Given the description of an element on the screen output the (x, y) to click on. 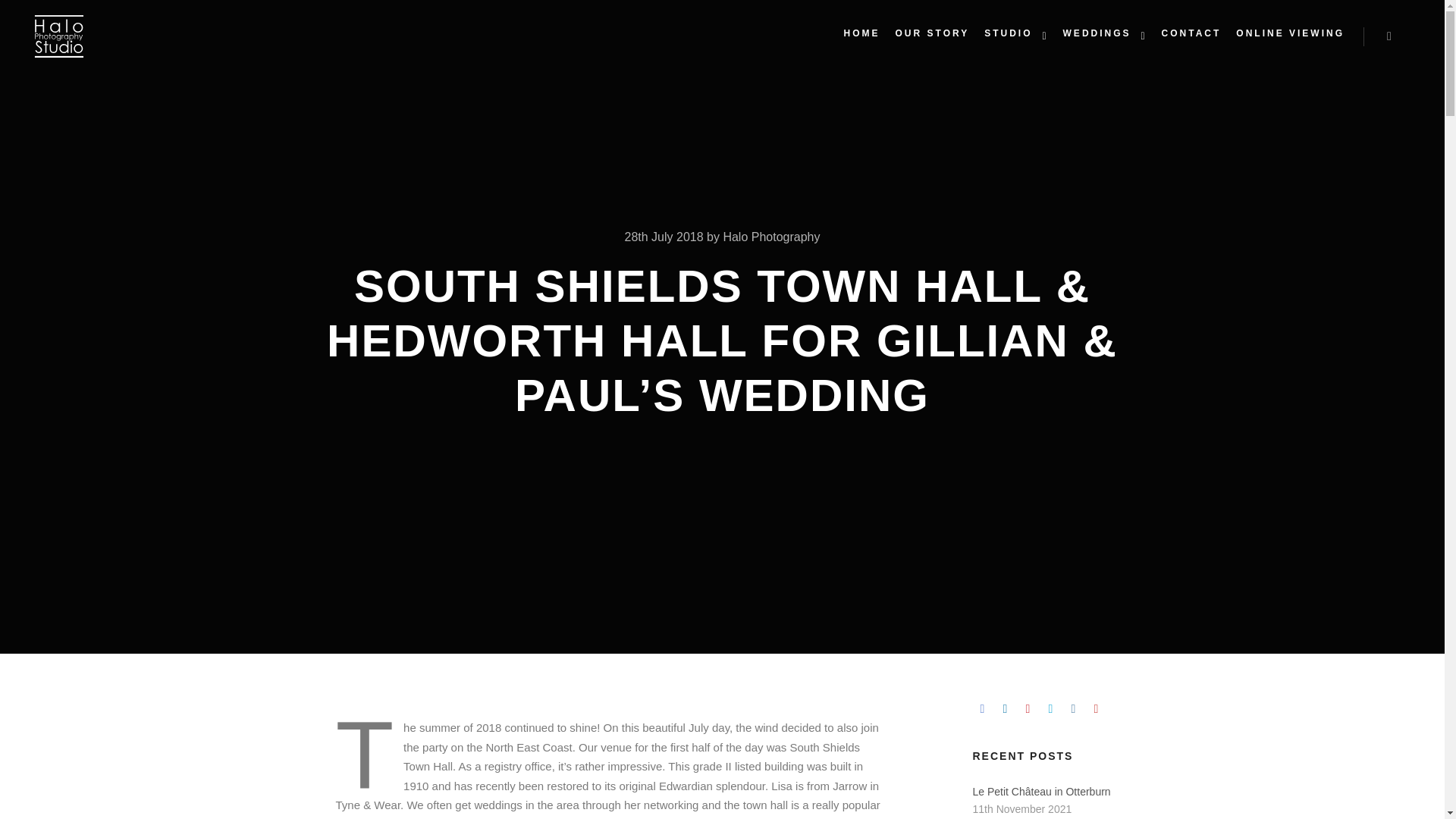
More info (1389, 35)
Twitter (1050, 709)
CONTACT (1191, 32)
Facebook (981, 709)
View all posts by Halo Photography (770, 236)
ONLINE VIEWING (1290, 32)
Linkedin (1004, 709)
HOME (861, 32)
Halo Photography (770, 236)
YouTube (1095, 709)
